Given the description of an element on the screen output the (x, y) to click on. 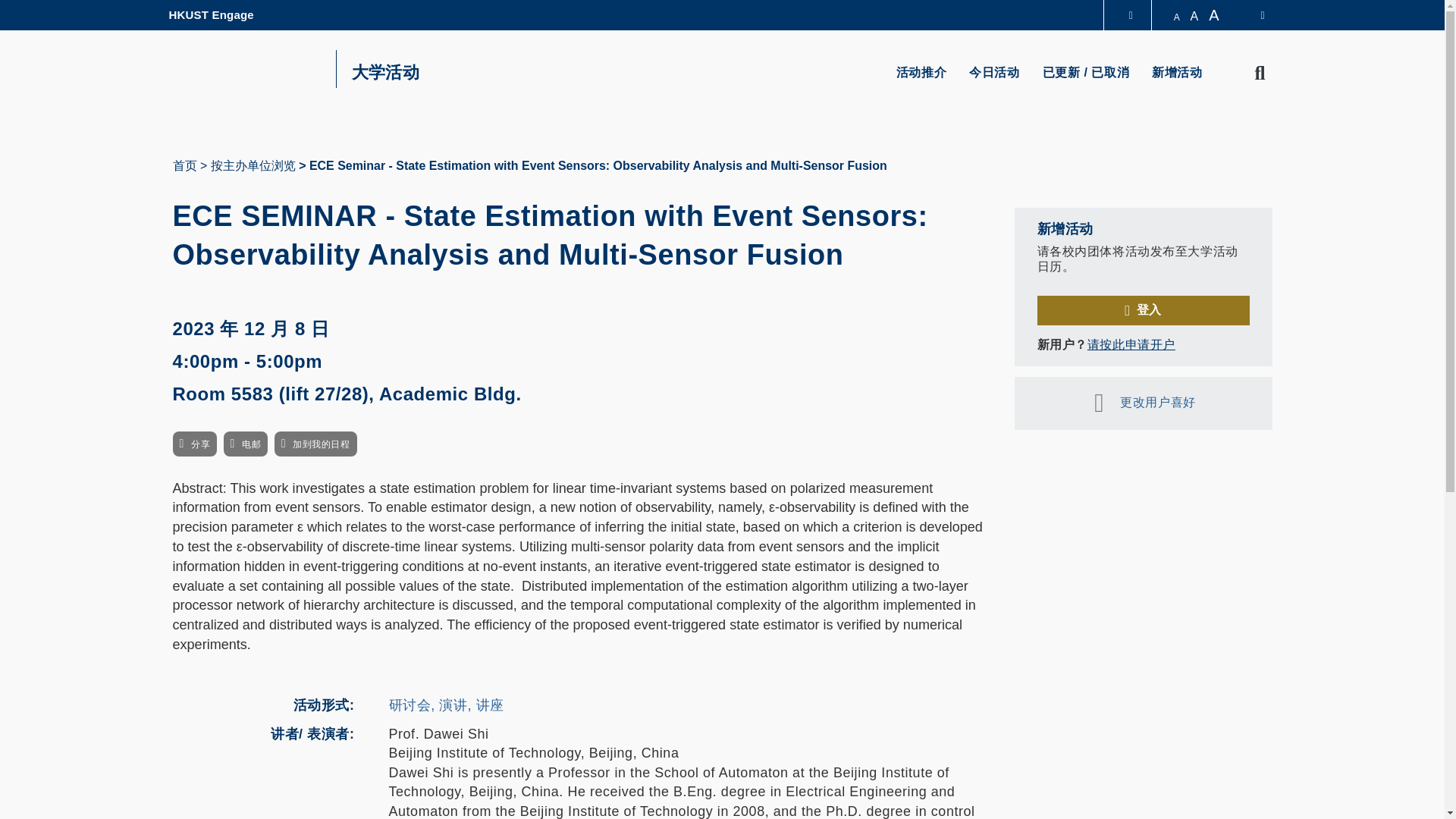
A (1216, 14)
HKUST Engage (210, 15)
A (1194, 15)
A (1176, 17)
HKUST (244, 68)
